Given the description of an element on the screen output the (x, y) to click on. 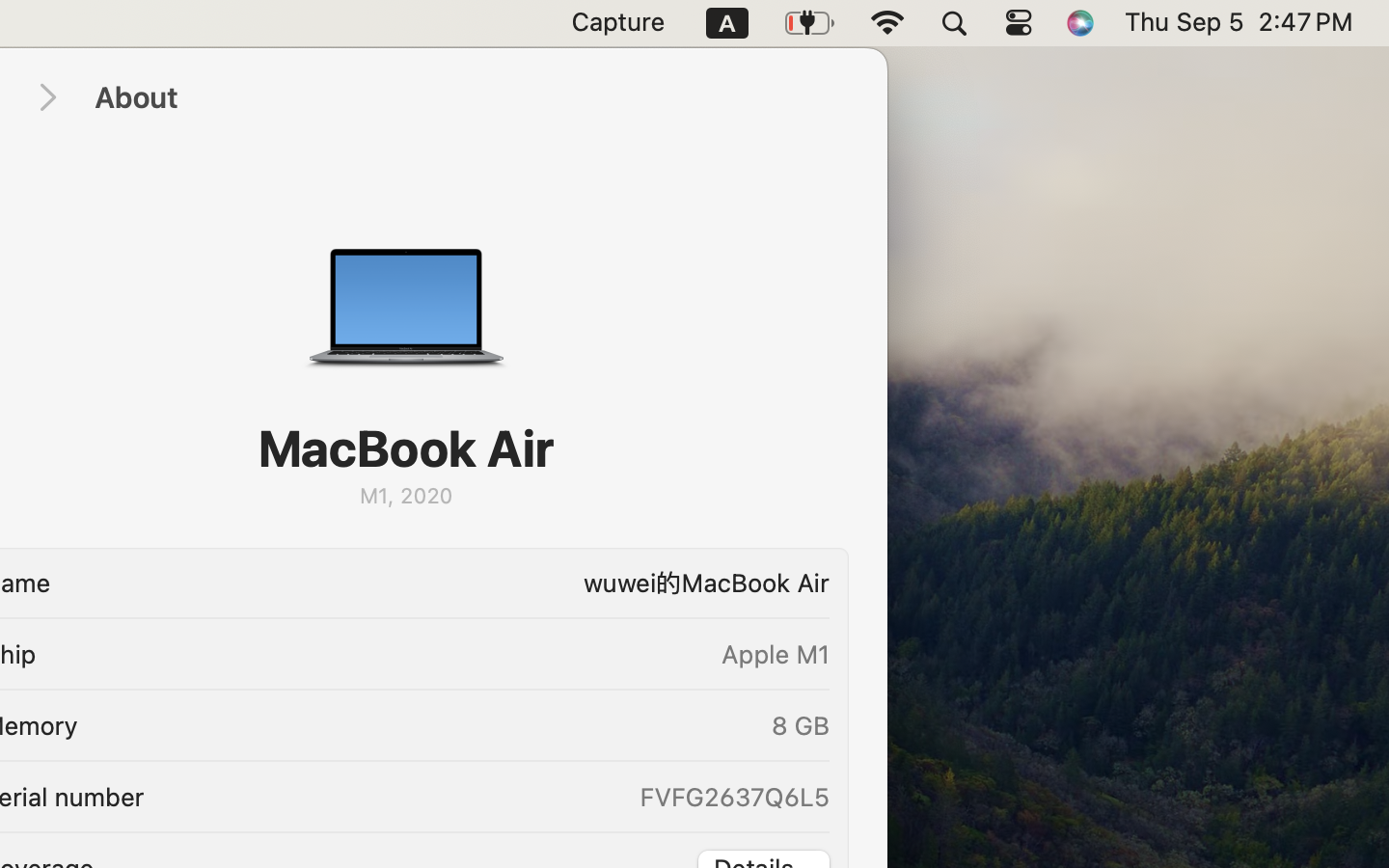
M1, 2020 Element type: AXStaticText (404, 495)
FVFG2637Q6L5 Element type: AXStaticText (732, 796)
MacBook Air Element type: AXStaticText (405, 448)
8 GB Element type: AXStaticText (800, 724)
Apple M1 Element type: AXStaticText (775, 653)
